Given the description of an element on the screen output the (x, y) to click on. 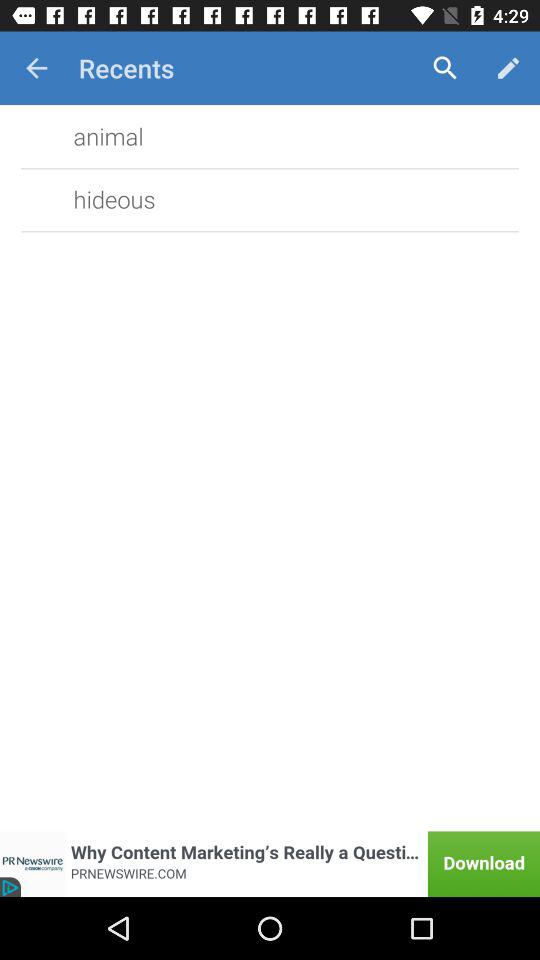
turn off icon above animal icon (36, 68)
